Given the description of an element on the screen output the (x, y) to click on. 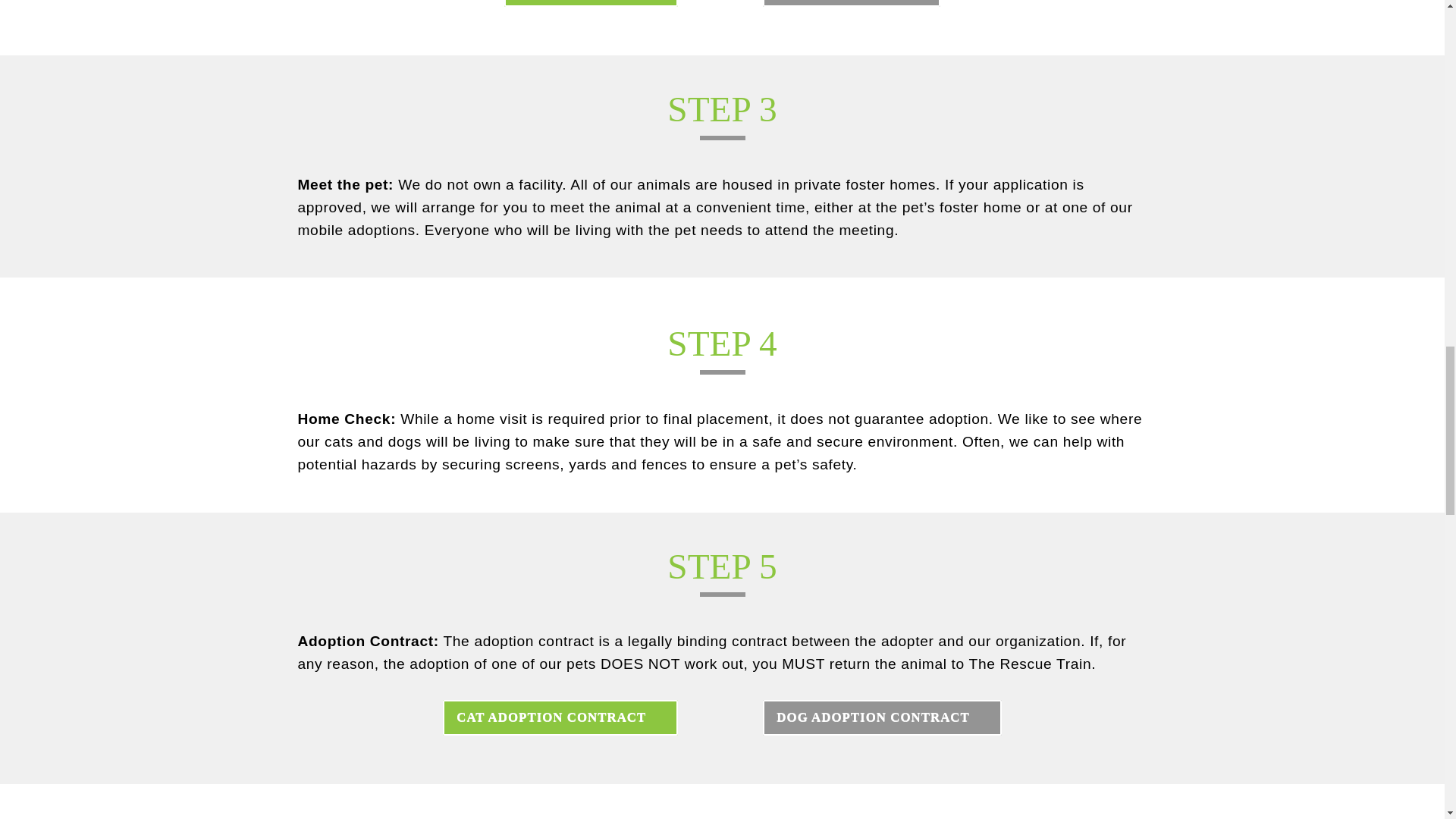
DOG ADOPTION CONTRACT (881, 717)
CAT ADOPTION CONTRACT (560, 717)
CAT APPLICATION (590, 3)
DOG APPLICATION (851, 3)
